Given the description of an element on the screen output the (x, y) to click on. 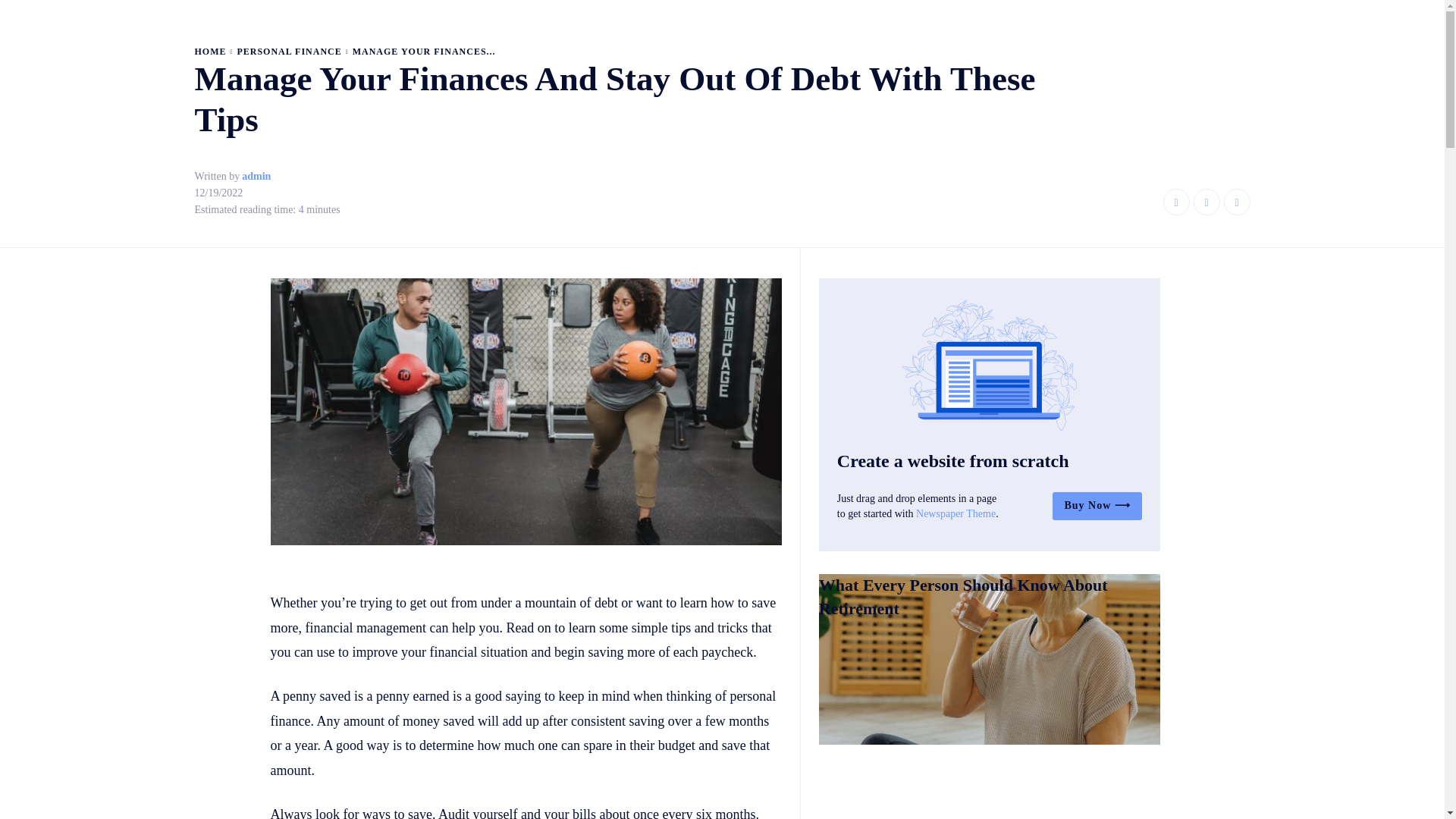
Twitter (1237, 202)
PERSONAL FINANCE (287, 50)
Instagram (1206, 202)
Facebook (1176, 202)
View all posts in personal finance (287, 50)
admin (255, 176)
HOME (209, 50)
